Given the description of an element on the screen output the (x, y) to click on. 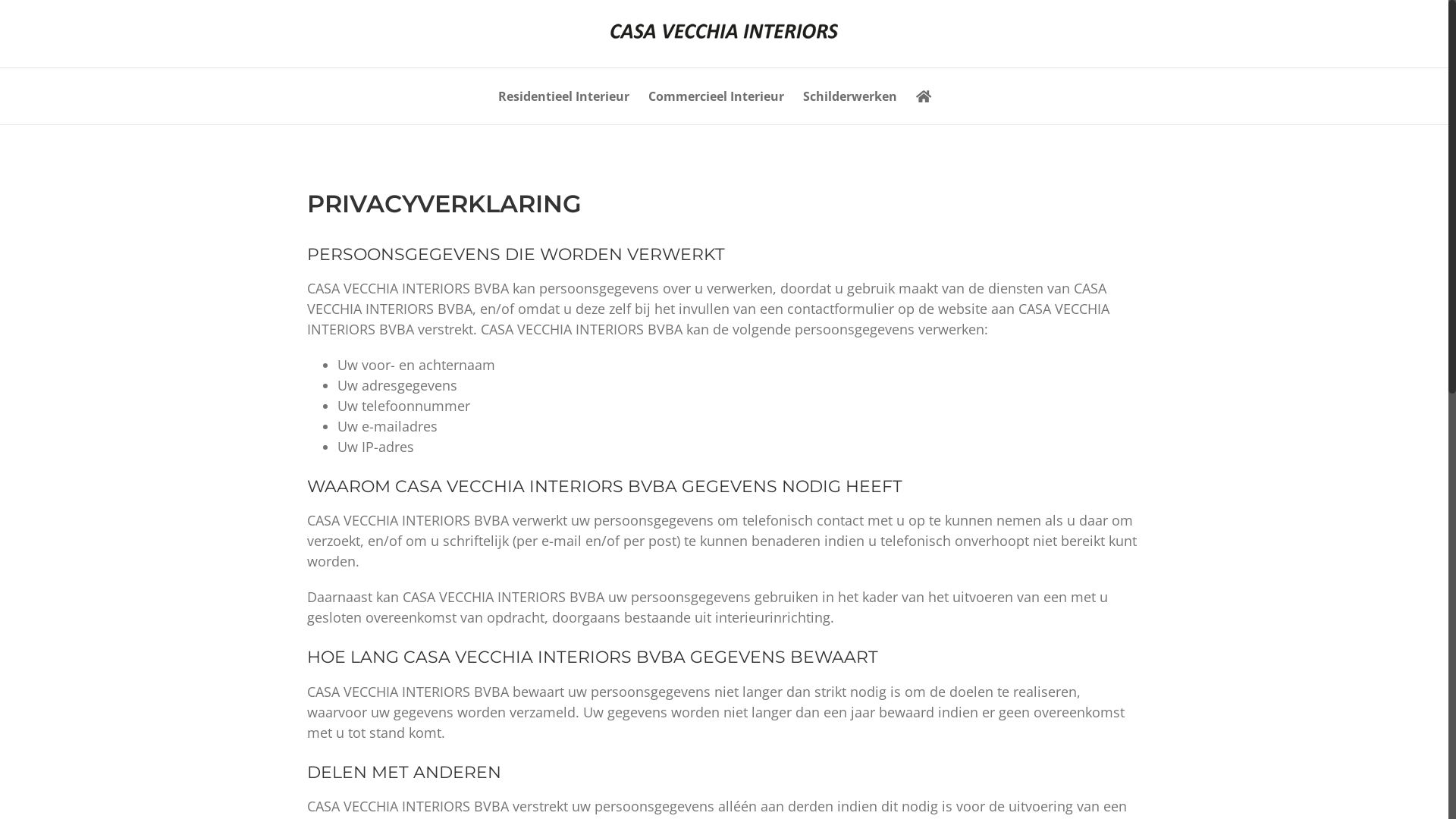
Schilderwerken Element type: text (850, 96)
Commercieel Interieur Element type: text (716, 96)
Residentieel Interieur Element type: text (563, 96)
